Given the description of an element on the screen output the (x, y) to click on. 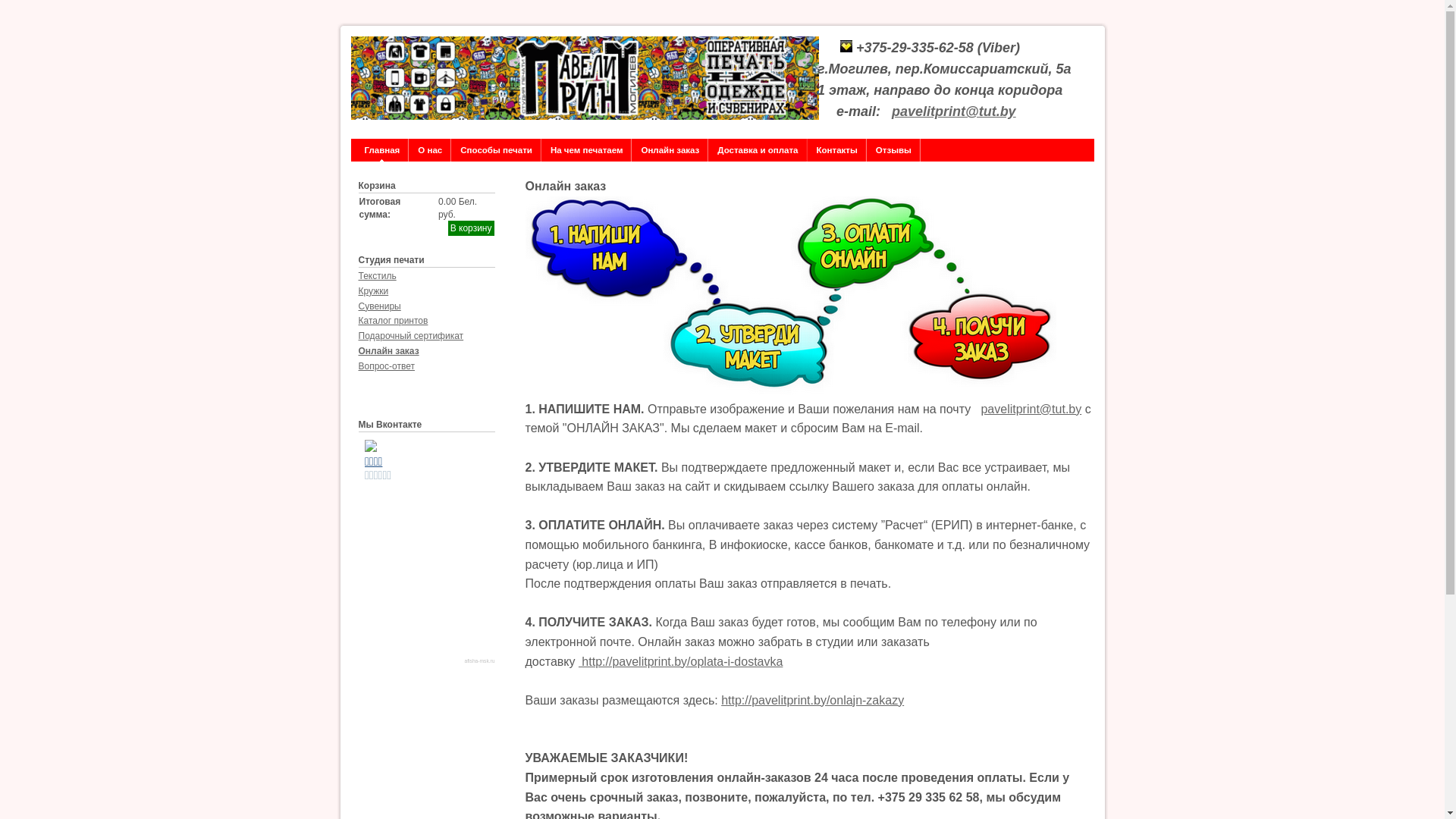
http://pavelitprint.by/onlajn-zakazy Element type: text (812, 699)
pavelitprint@tut.by Element type: text (953, 111)
 http://pavelitprint.by/oplata-i-dostavka Element type: text (680, 661)
pavelitprint@tut.by Element type: text (1030, 408)
afisha-msk.ru Element type: text (479, 660)
